Given the description of an element on the screen output the (x, y) to click on. 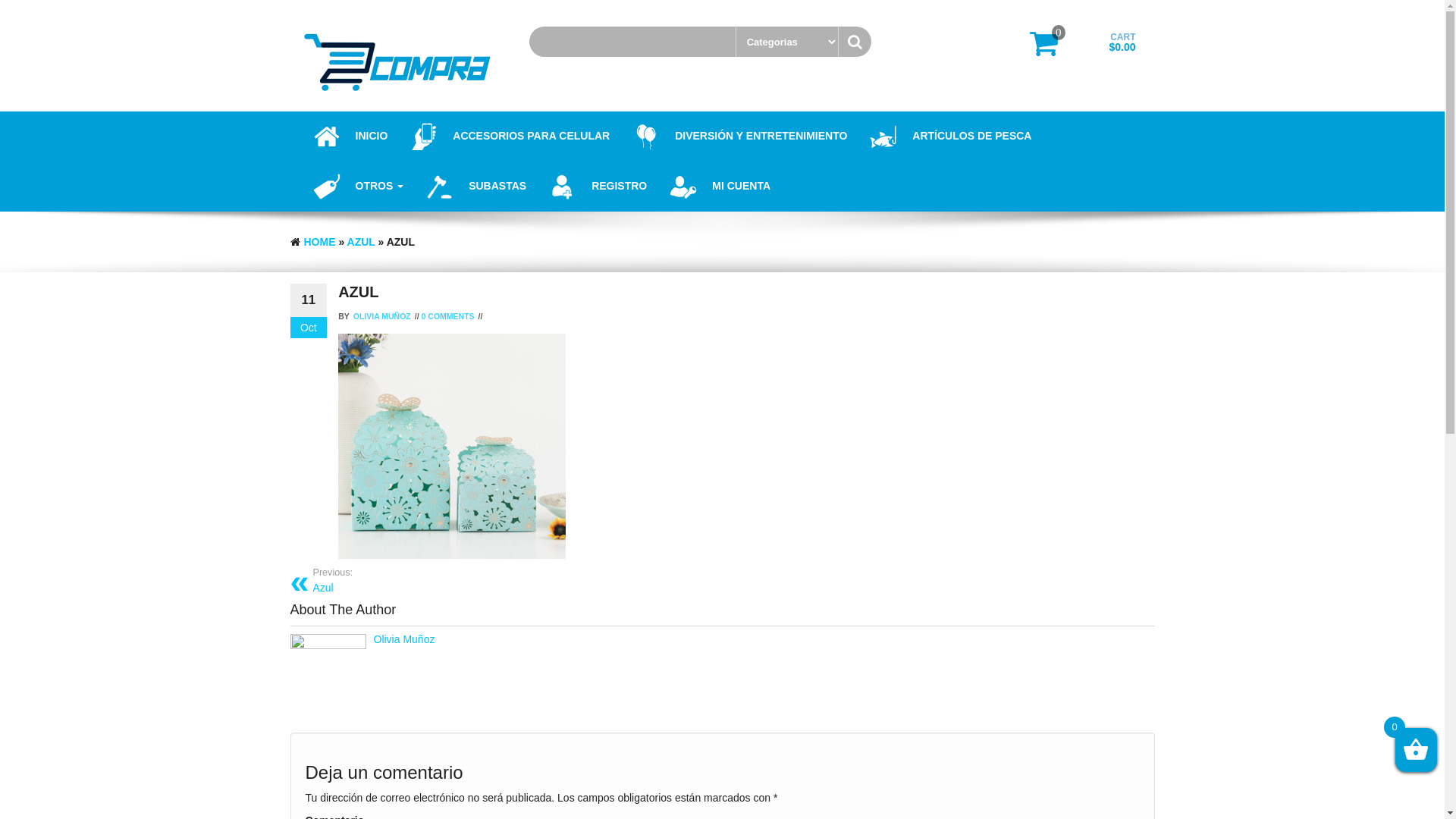
MI CUENTA Element type: text (719, 186)
OTROS Element type: text (358, 186)
HOME Element type: text (319, 241)
INICIO Element type: text (350, 136)
ACCESORIOS PARA CELULAR Element type: text (509, 136)
AZUL Element type: text (361, 241)
Previous:
Azul Element type: text (511, 579)
REGISTRO Element type: text (597, 186)
0 COMMENTS Element type: text (447, 315)
SUBASTAS Element type: text (475, 186)
